Given the description of an element on the screen output the (x, y) to click on. 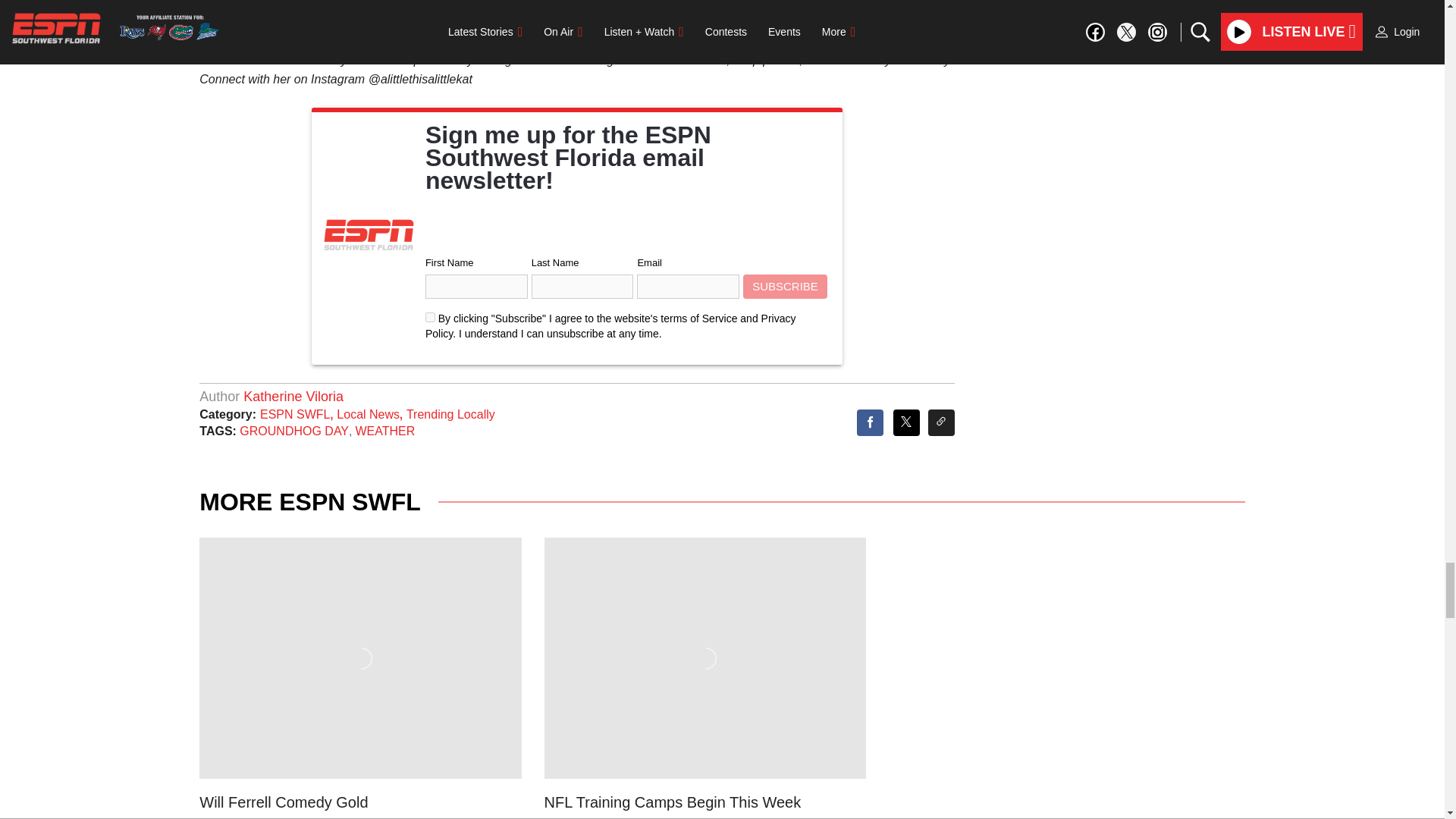
on (430, 317)
Katherine Viloria (293, 396)
